Given the description of an element on the screen output the (x, y) to click on. 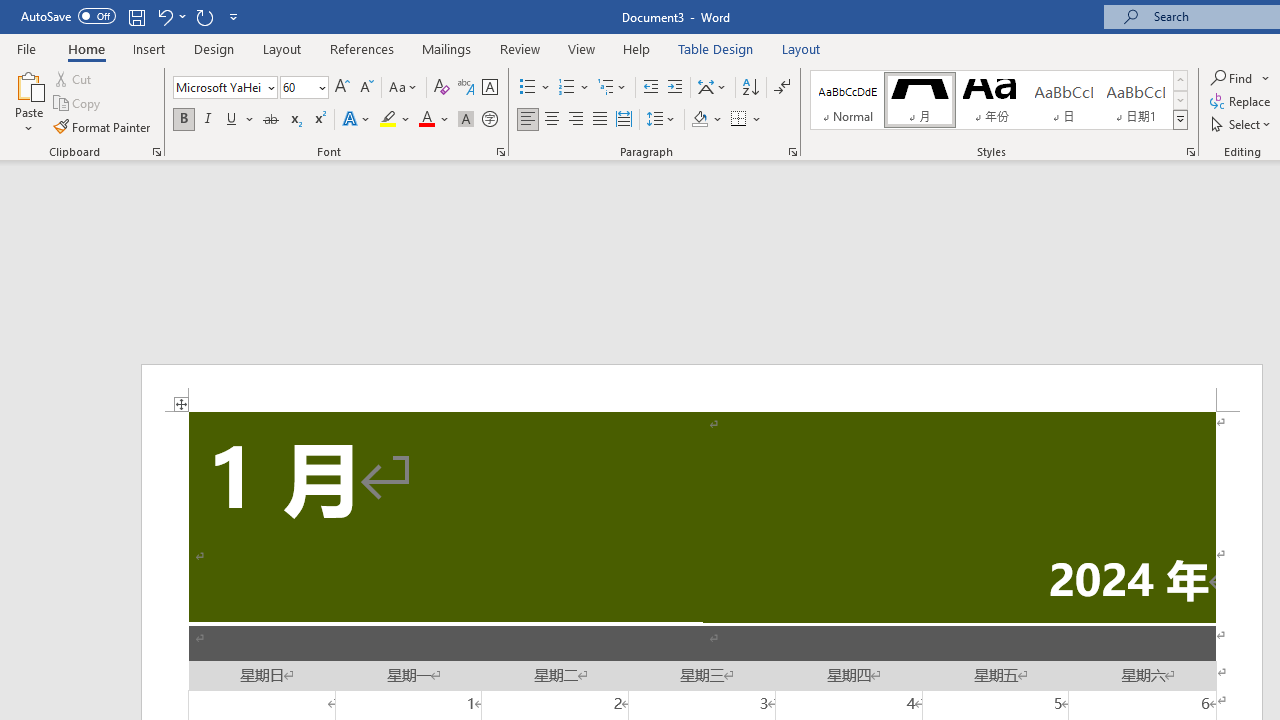
Numbering (566, 87)
Bold (183, 119)
Replace... (1242, 101)
Styles (1179, 120)
Show/Hide Editing Marks (781, 87)
Center (552, 119)
Paste (28, 84)
Bullets (527, 87)
Font Size (297, 87)
Review (520, 48)
Insert (149, 48)
Font Color RGB(255, 0, 0) (426, 119)
Customize Quick Access Toolbar (234, 15)
